Given the description of an element on the screen output the (x, y) to click on. 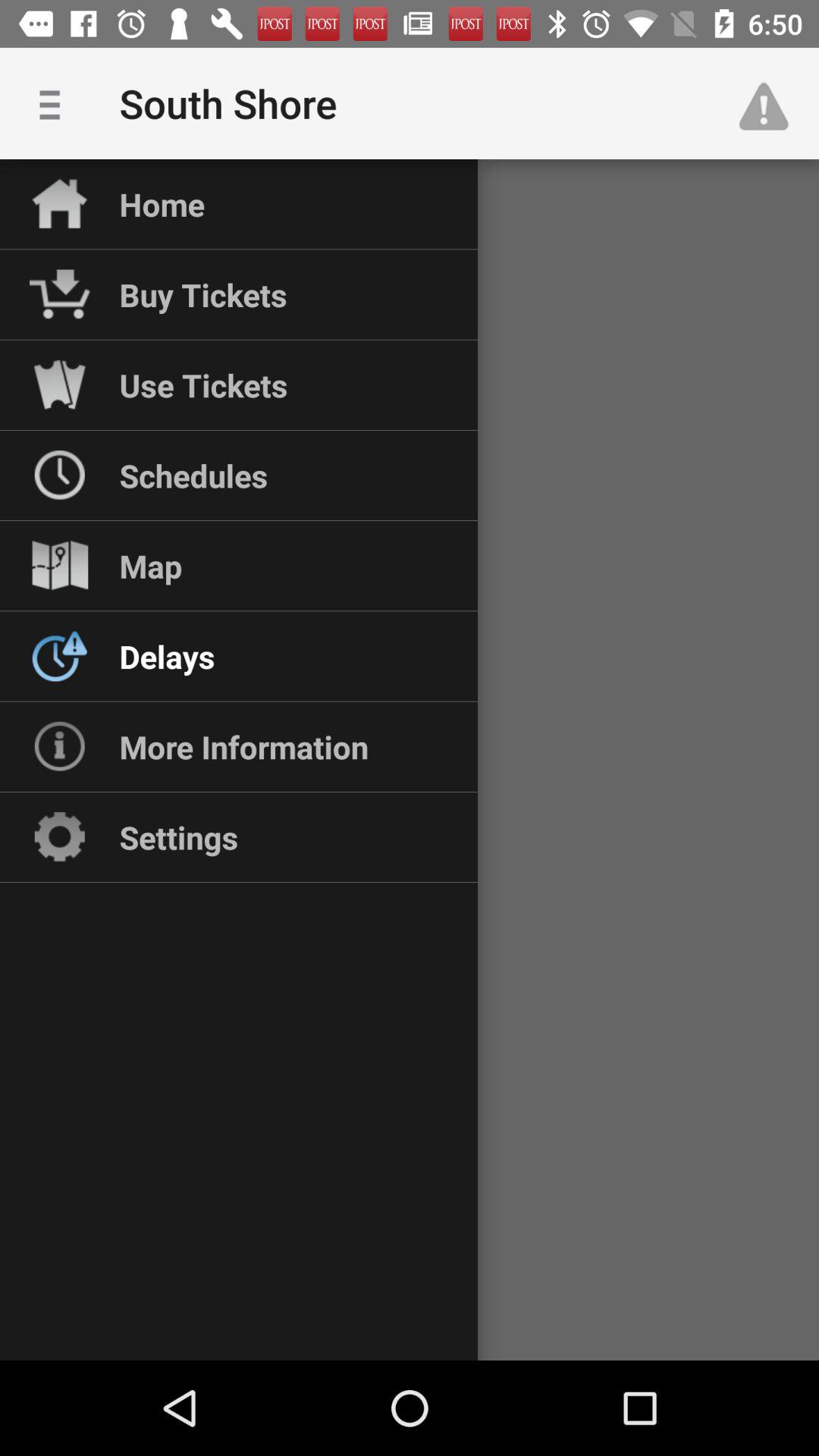
tap the icon to the left of home icon (55, 103)
